Given the description of an element on the screen output the (x, y) to click on. 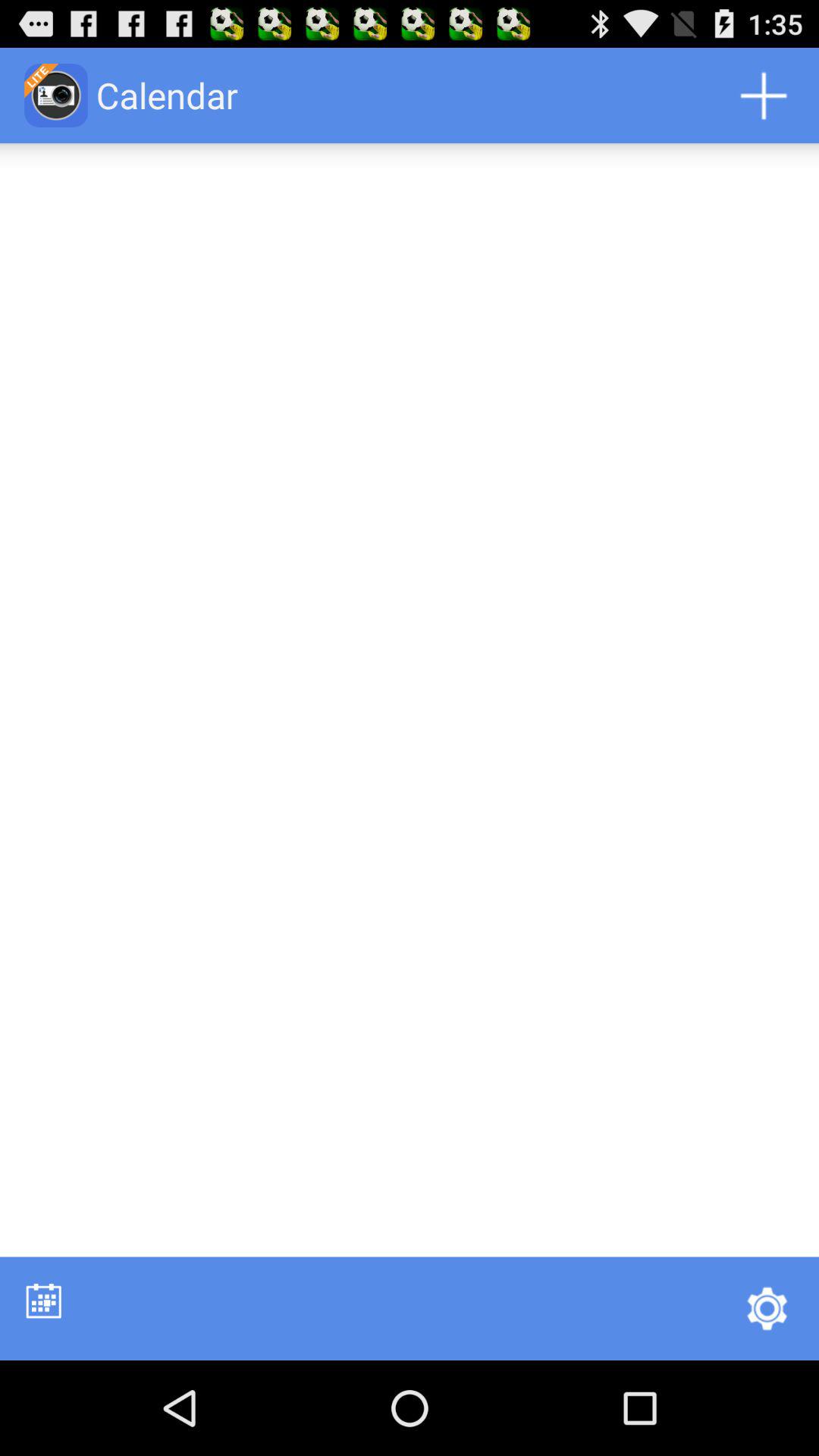
press the app to the right of the calendar app (763, 95)
